Given the description of an element on the screen output the (x, y) to click on. 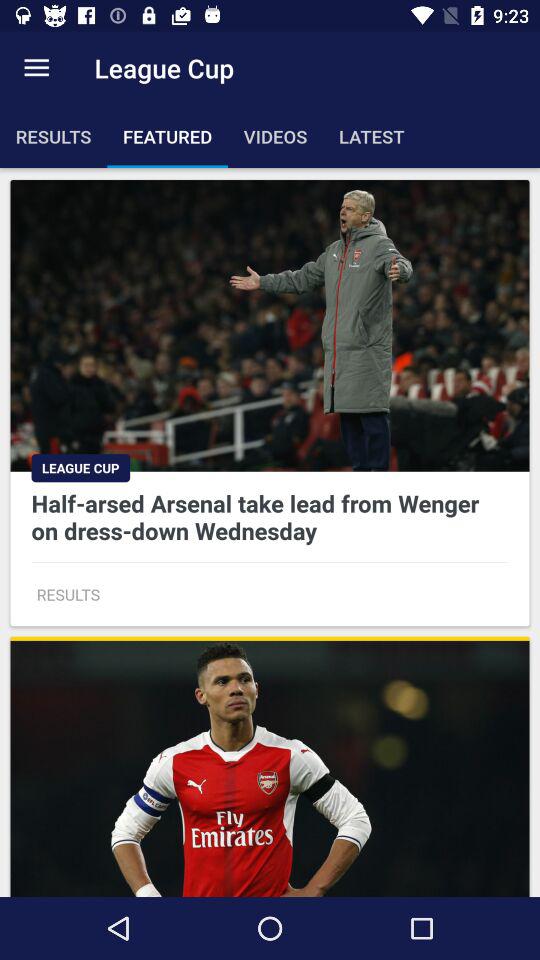
choose the icon above results icon (36, 68)
